Given the description of an element on the screen output the (x, y) to click on. 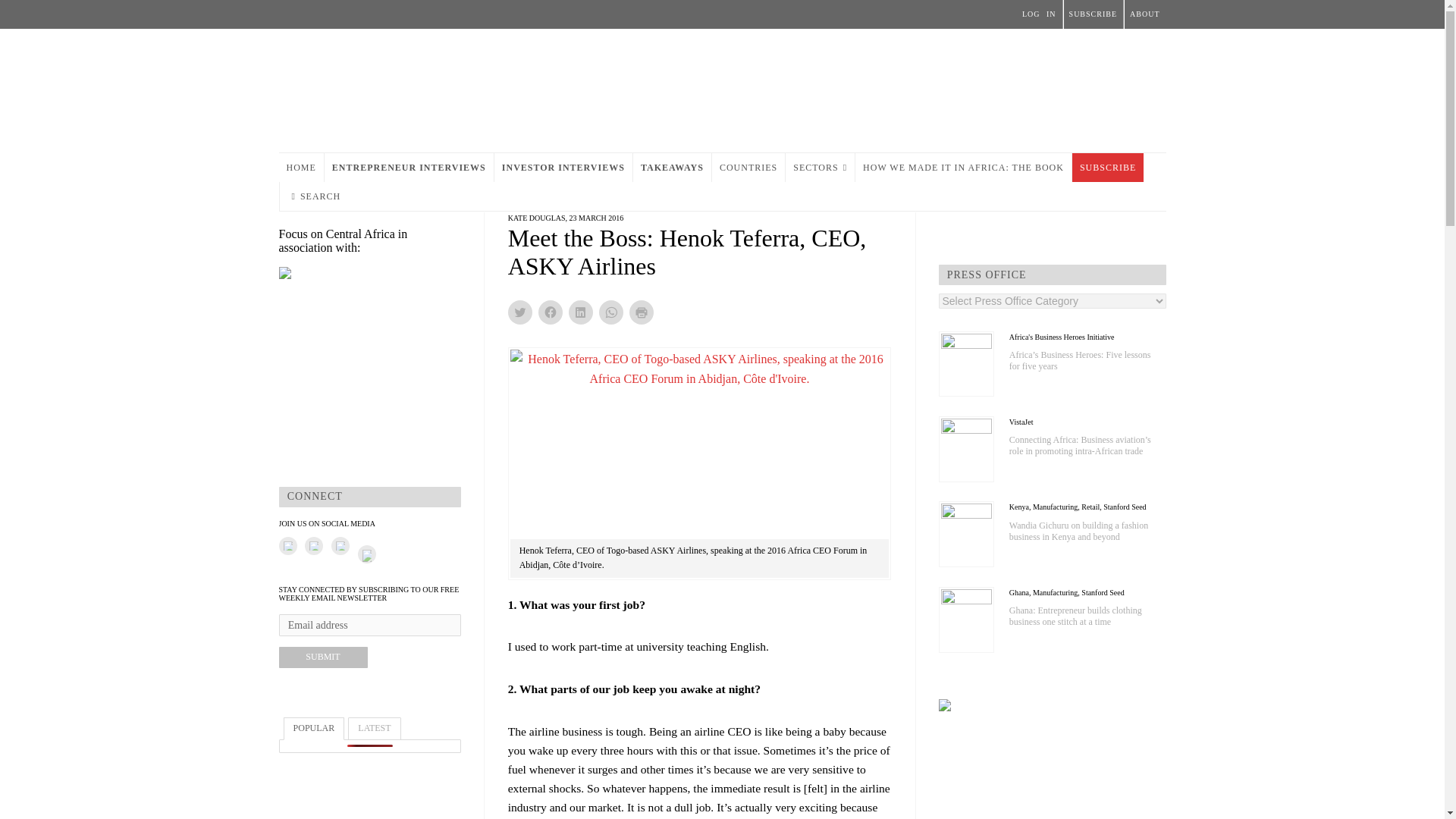
Click to print (640, 312)
Click to share on Twitter (520, 312)
HOME (301, 167)
HOW WE MADE IT IN AFRICA: THE BOOK (963, 167)
Posts by Kate Douglas (537, 217)
INVESTOR INTERVIEWS (563, 167)
Click to share on WhatsApp (610, 312)
SUBSCRIBE (1106, 167)
Submit (323, 657)
Click to share on LinkedIn (580, 312)
Click to share on Facebook (550, 312)
SECTORS (820, 167)
KATE DOUGLAS (537, 217)
SEARCH (315, 195)
COUNTRIES (747, 167)
